Given the description of an element on the screen output the (x, y) to click on. 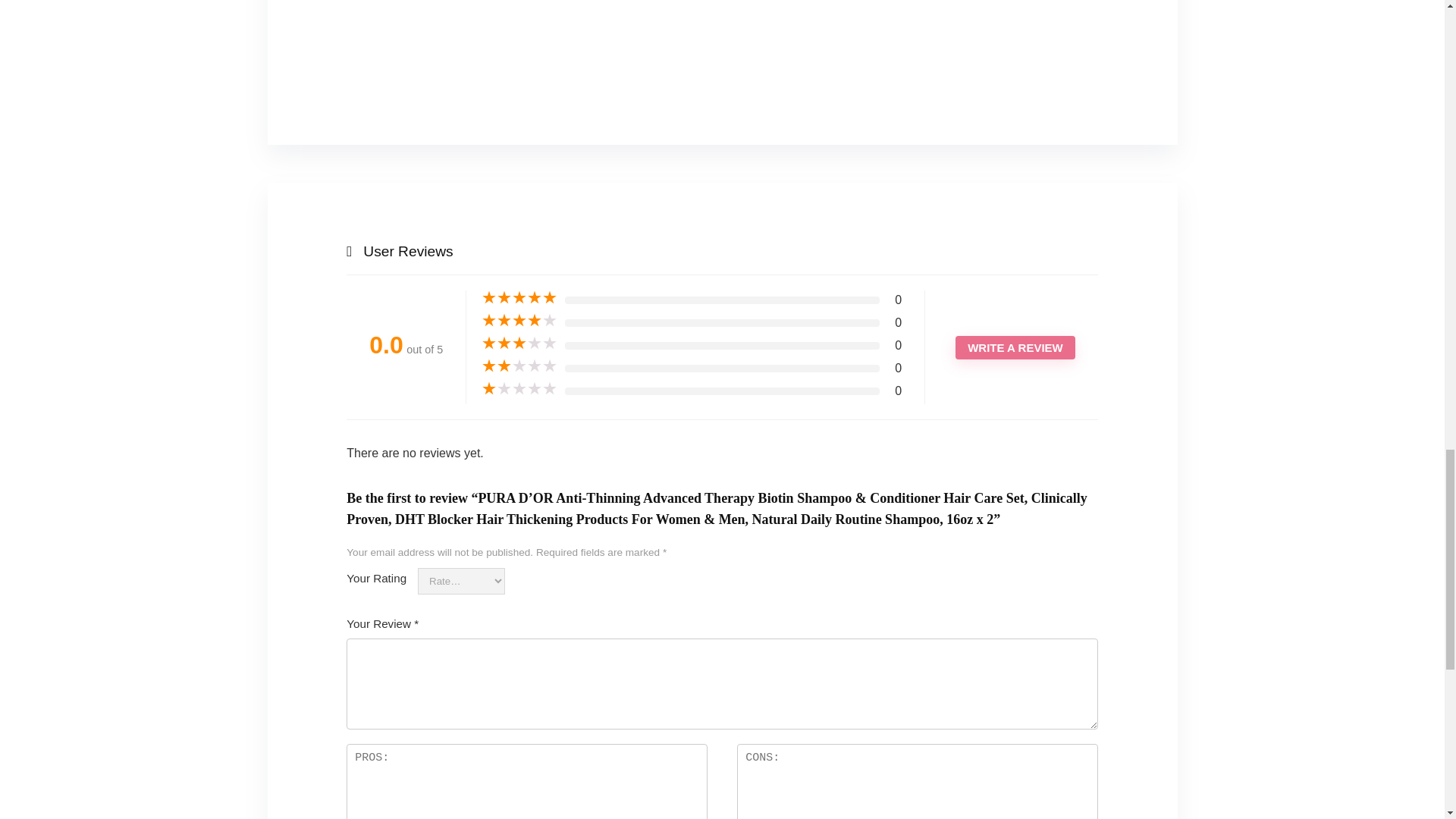
Rated 4 out of 5 (519, 320)
Rated 3 out of 5 (519, 343)
WRITE A REVIEW (1015, 347)
Rated 1 out of 5 (519, 388)
Rated 2 out of 5 (519, 365)
Rated 5 out of 5 (519, 297)
